Given the description of an element on the screen output the (x, y) to click on. 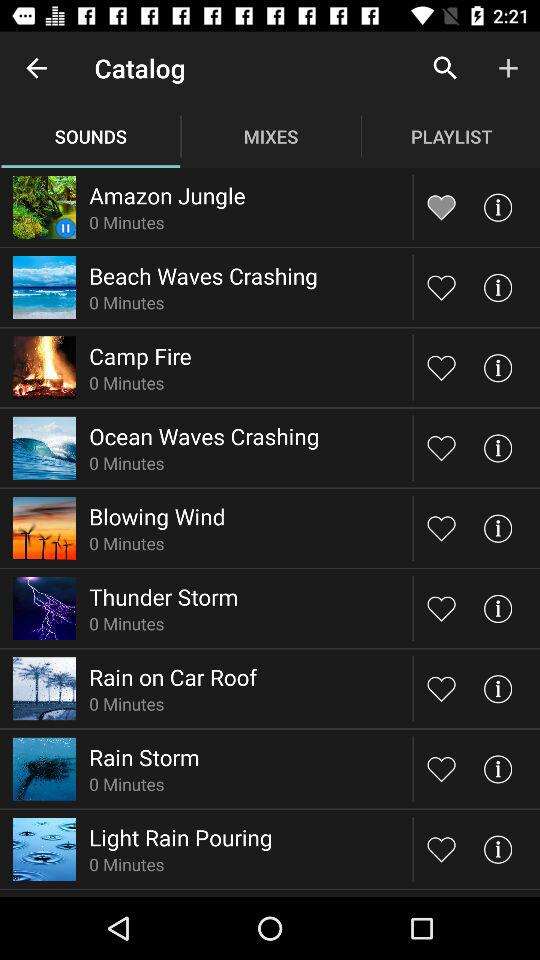
favorite sound (441, 688)
